Given the description of an element on the screen output the (x, y) to click on. 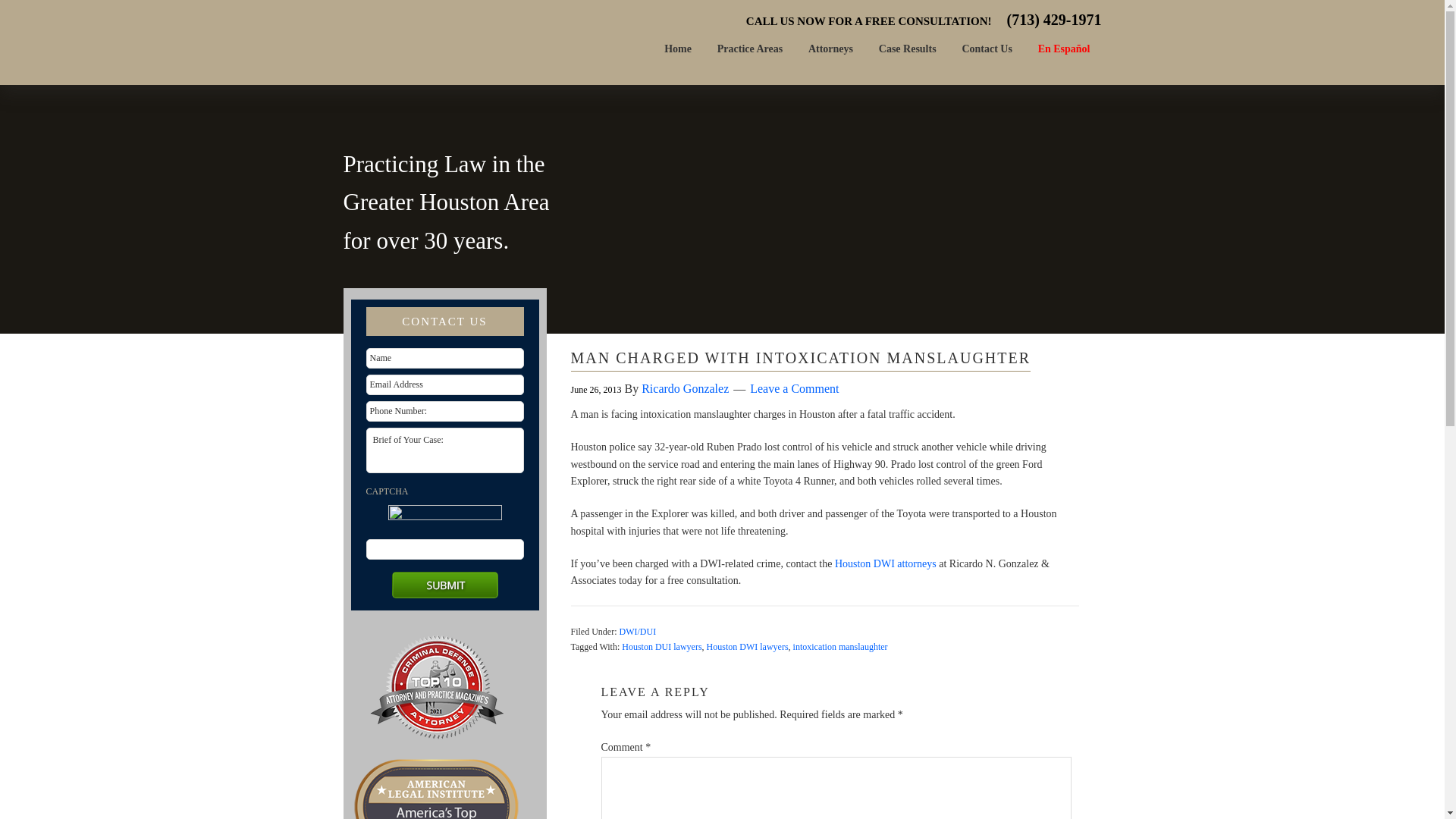
Practice Areas (749, 48)
Case Results (907, 48)
Houston DWI attorneys (885, 563)
Leave a Comment (793, 388)
Houston DWI lawyers (747, 646)
Houston DUI lawyers (661, 646)
Houston DWI Attorneys (885, 563)
Home (677, 48)
Ricardo Gonzalez (685, 388)
En Espanol (1064, 48)
